Given the description of an element on the screen output the (x, y) to click on. 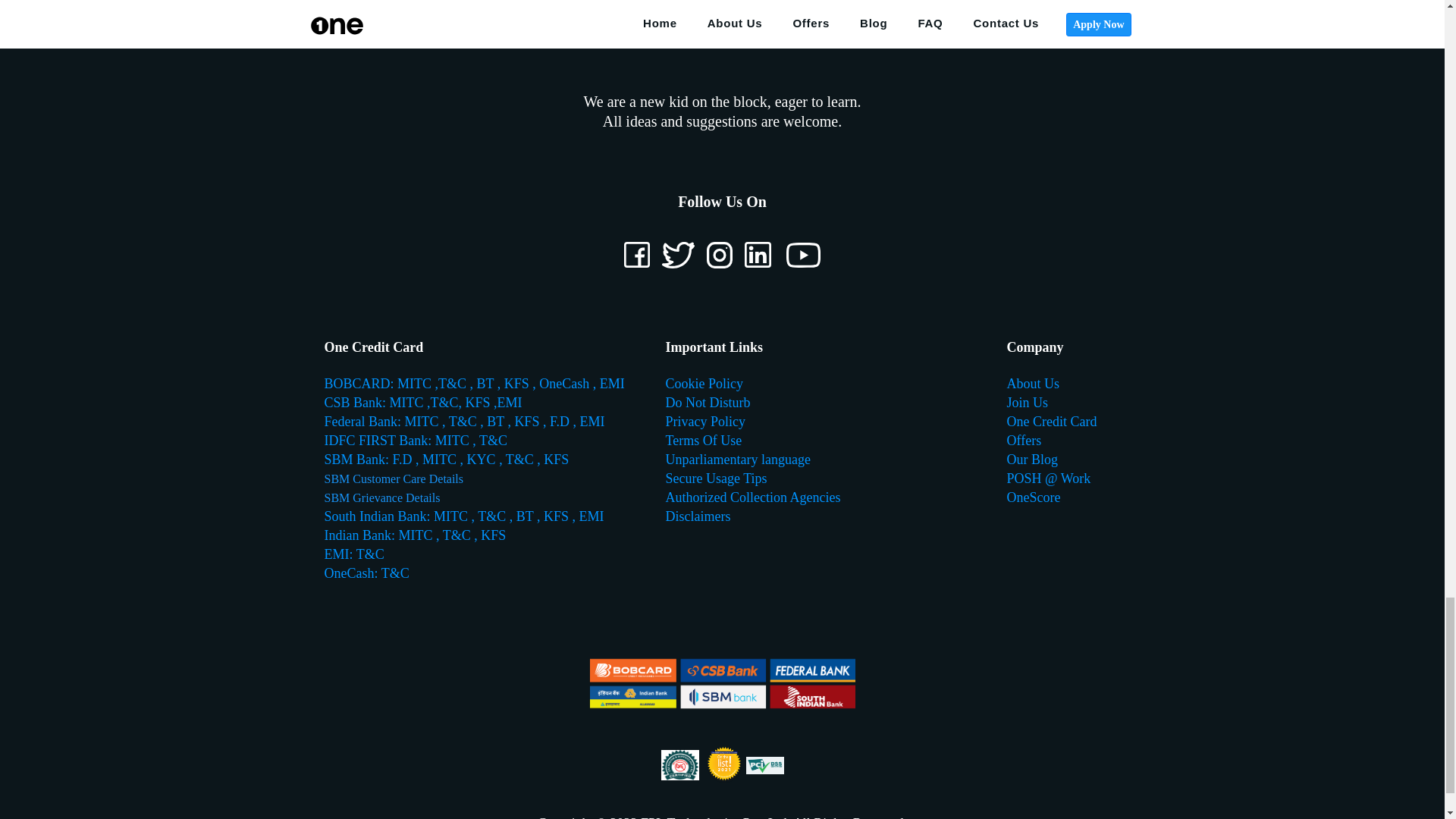
BT (494, 421)
MITC (421, 421)
KYC (481, 459)
KFS (556, 459)
EMI (509, 402)
EMI (591, 421)
MITC (441, 459)
MITC (454, 440)
KFS (528, 421)
F.D (559, 421)
MITC (416, 383)
MITC (409, 402)
BT (486, 383)
OneCash (563, 383)
F.D (402, 459)
